Given the description of an element on the screen output the (x, y) to click on. 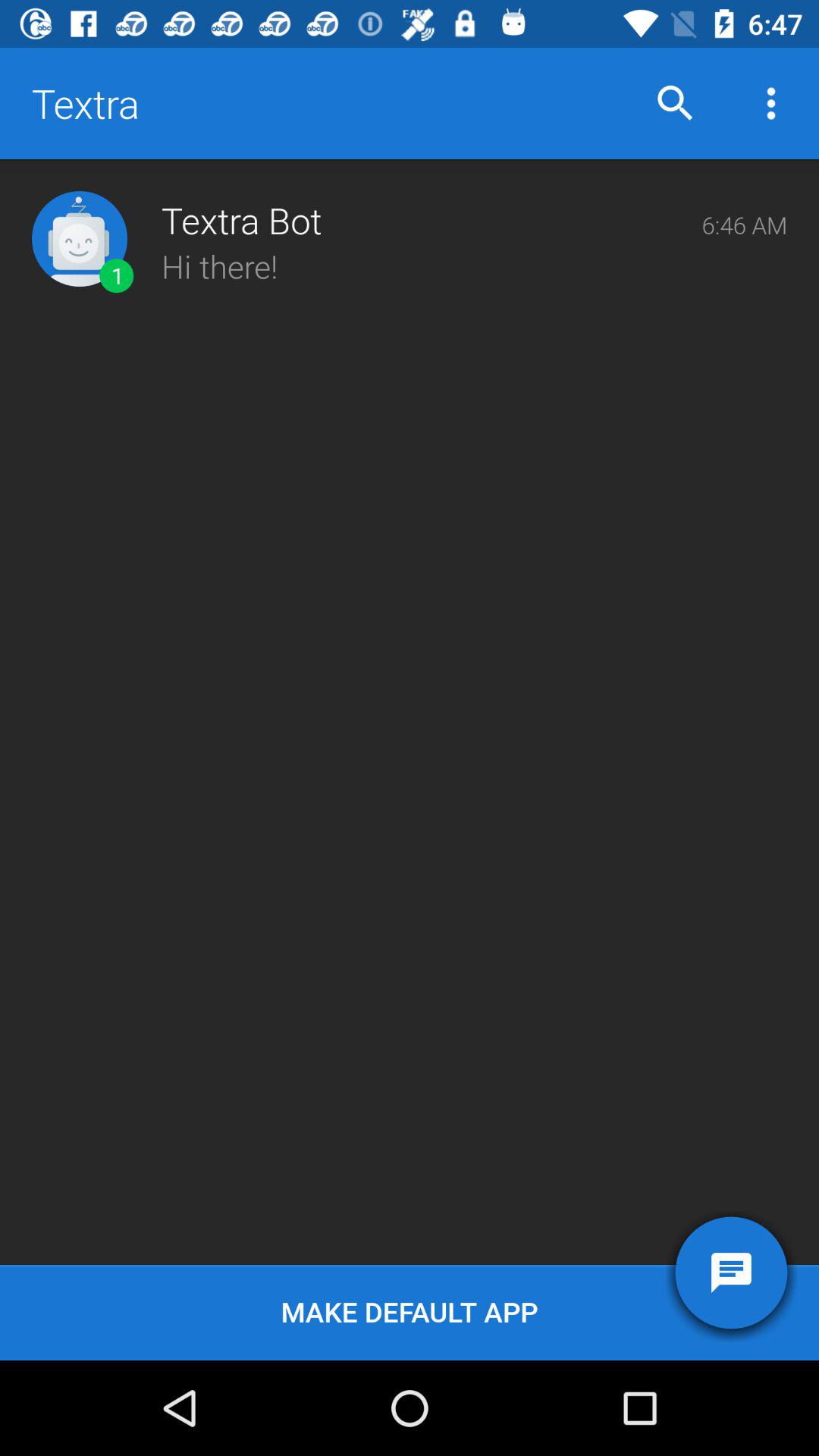
press item below hi there! (731, 1272)
